Given the description of an element on the screen output the (x, y) to click on. 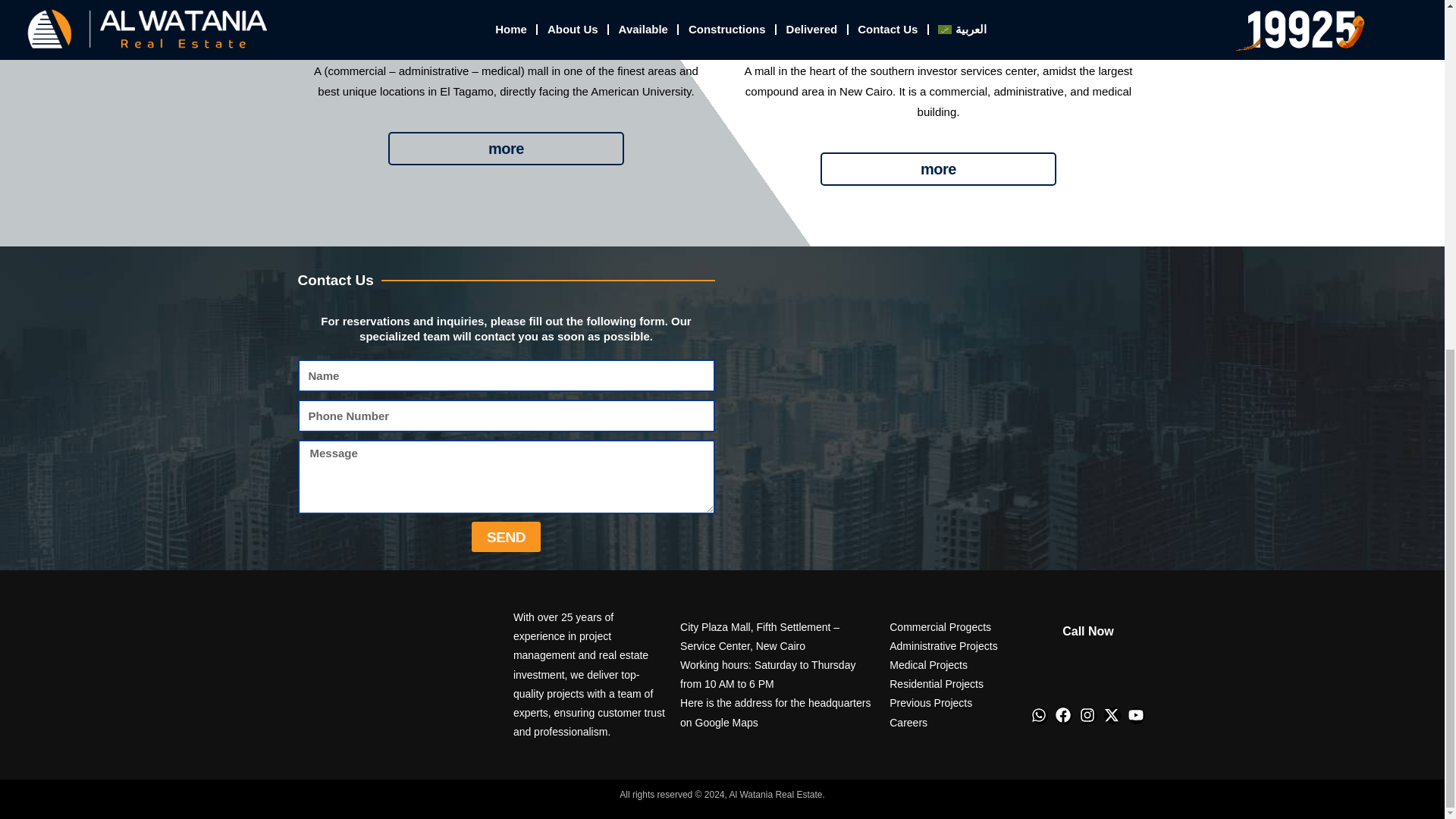
more (506, 148)
more (939, 168)
Administrative Projects (951, 646)
Commercial Progects (951, 627)
Medical Projects (951, 665)
Careers (951, 722)
SEND (505, 536)
Previous Projects (951, 702)
Al Watania Real Estate (938, 408)
Here is the address for the headquarters on Google Maps (777, 712)
